Given the description of an element on the screen output the (x, y) to click on. 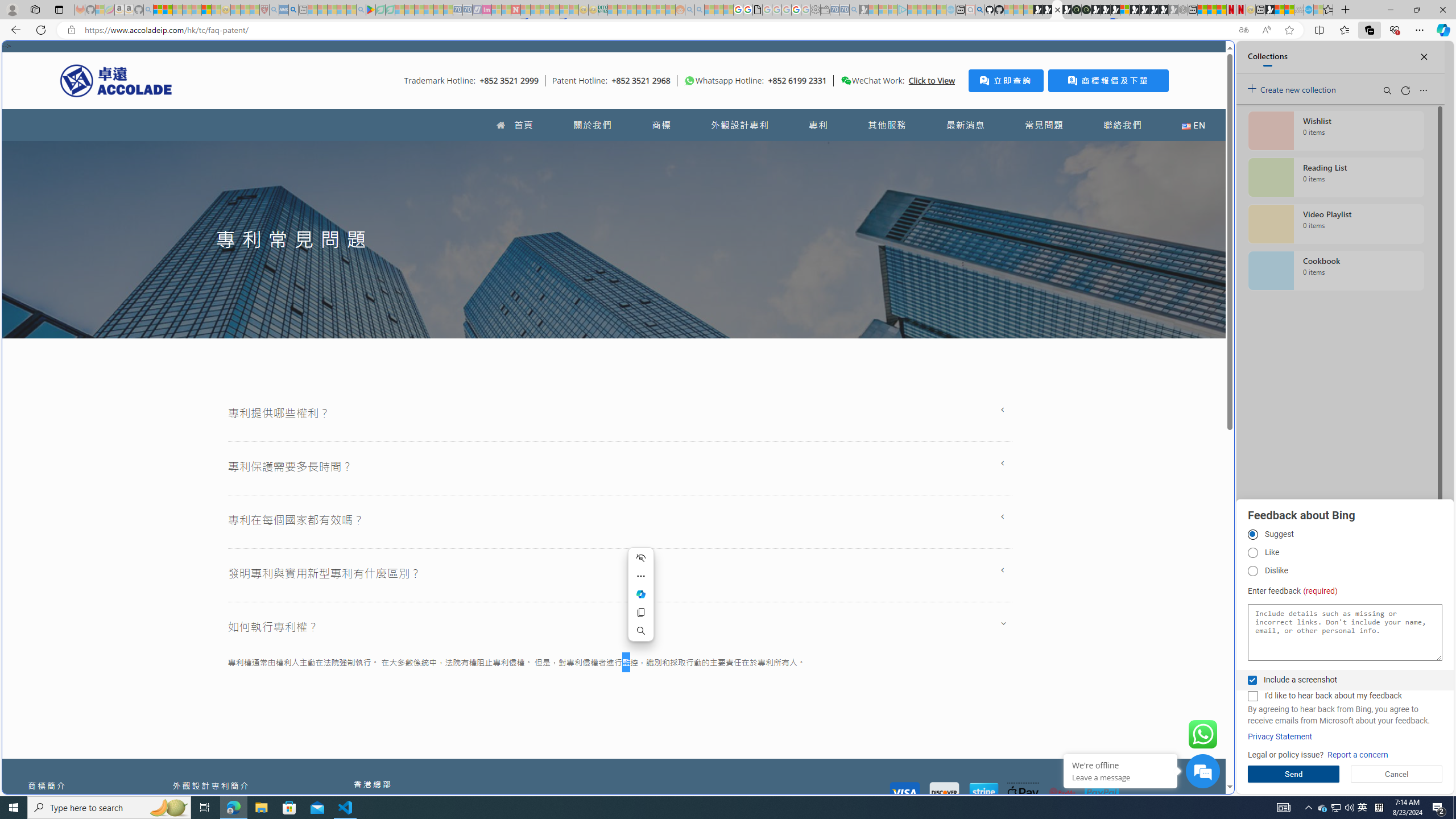
Accolade IP HK Logo (116, 80)
Frequently visited (965, 151)
Wallet - Sleeping (824, 9)
To get missing image descriptions, open the context menu. (689, 80)
Like (1252, 552)
Mini menu on text selection (640, 601)
github - Search (979, 9)
